Given the description of an element on the screen output the (x, y) to click on. 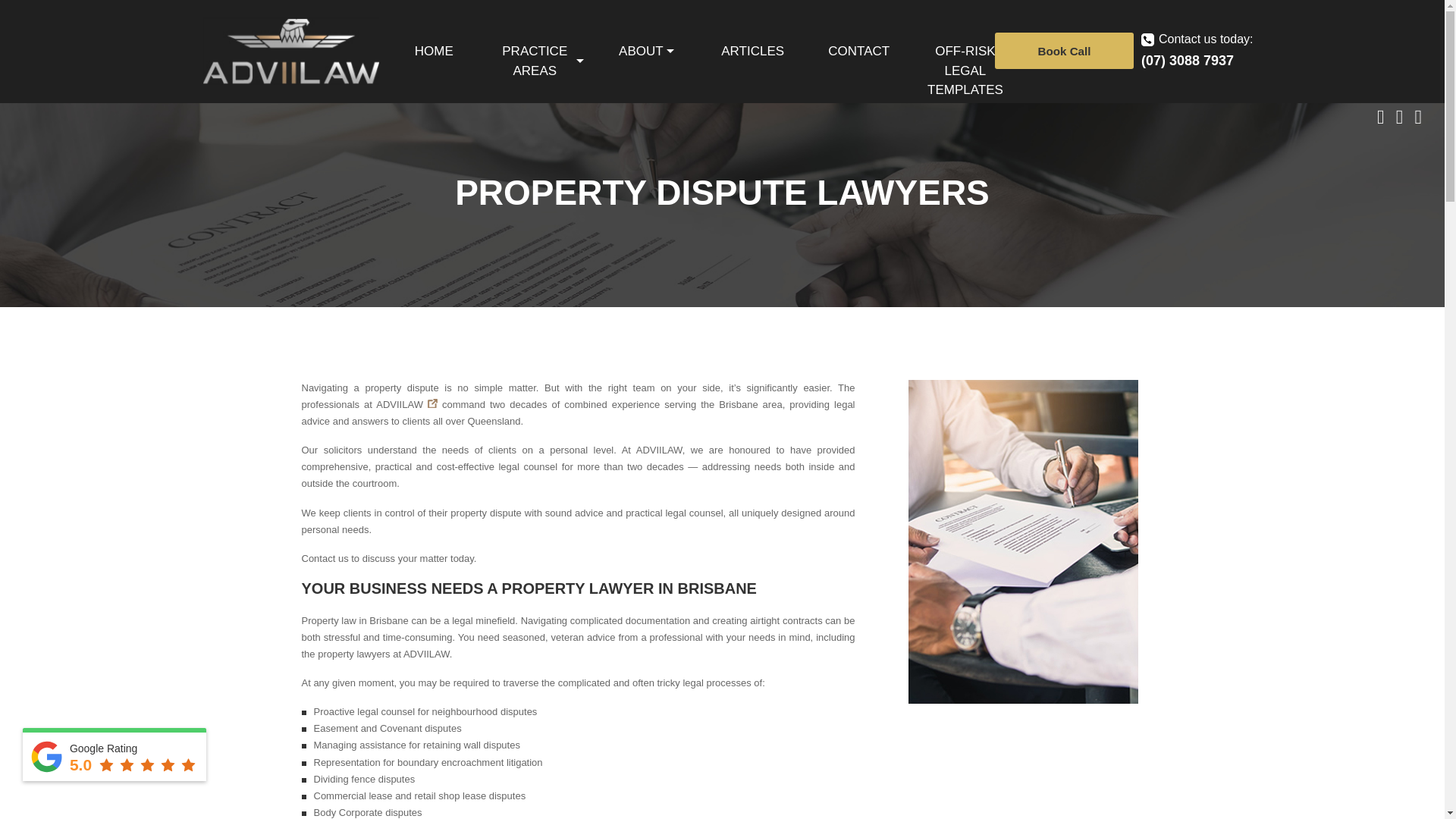
PRACTICE AREAS (539, 61)
HOME (433, 51)
Home (433, 51)
Practice Areas (539, 61)
